Given the description of an element on the screen output the (x, y) to click on. 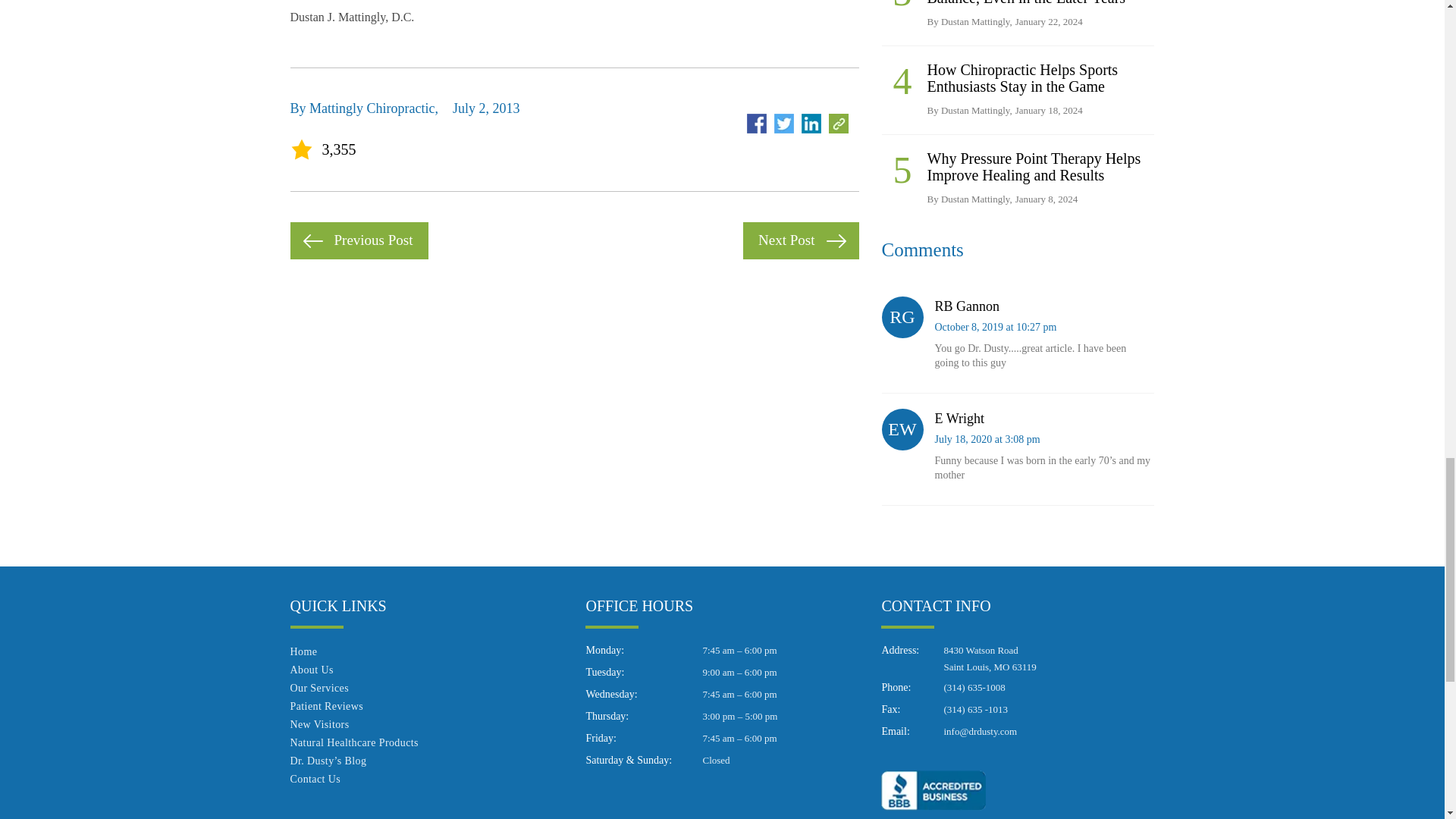
Next Post (800, 240)
Previous Post (358, 240)
